Given the description of an element on the screen output the (x, y) to click on. 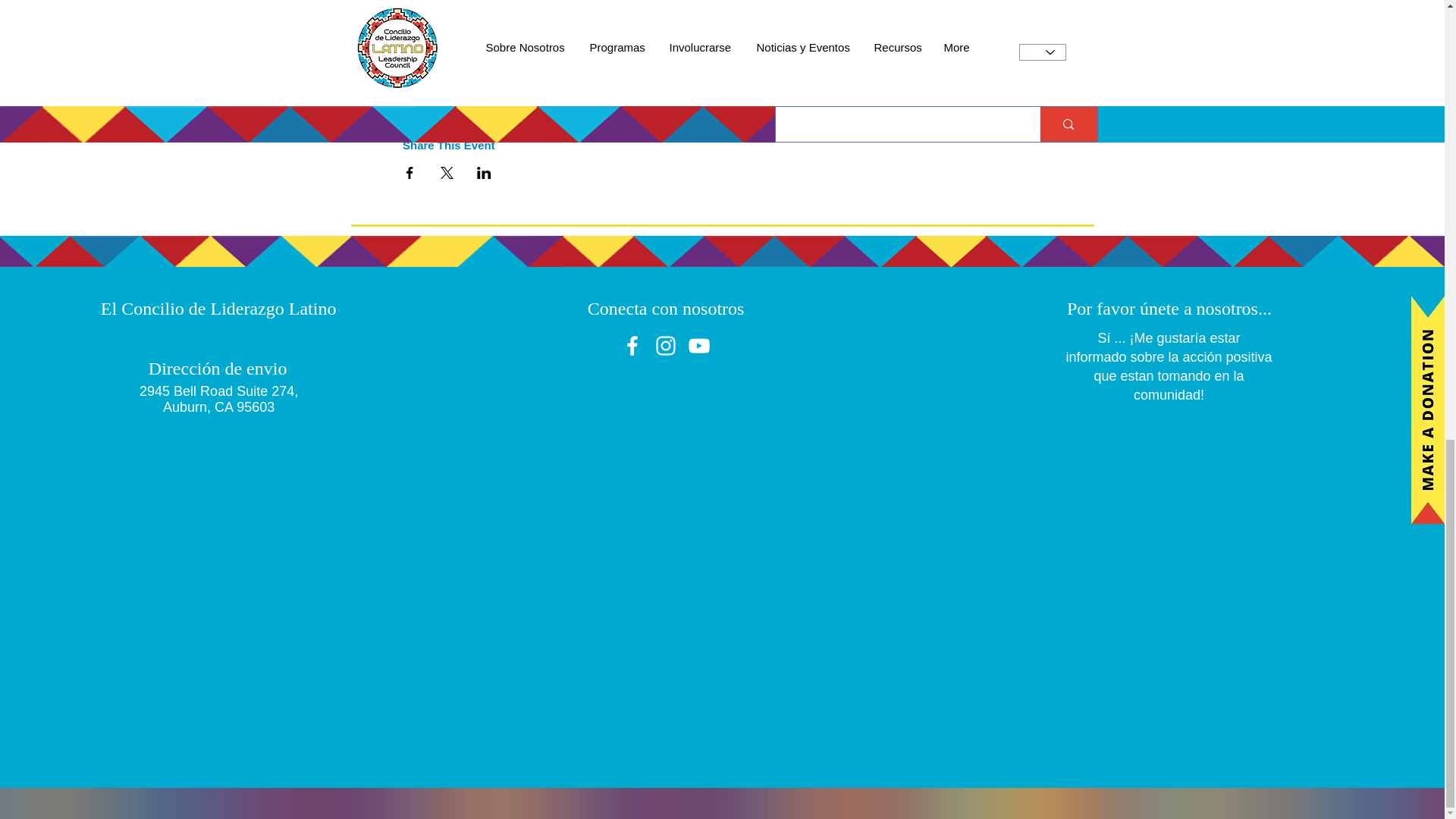
Embedded Content (1155, 573)
